Given the description of an element on the screen output the (x, y) to click on. 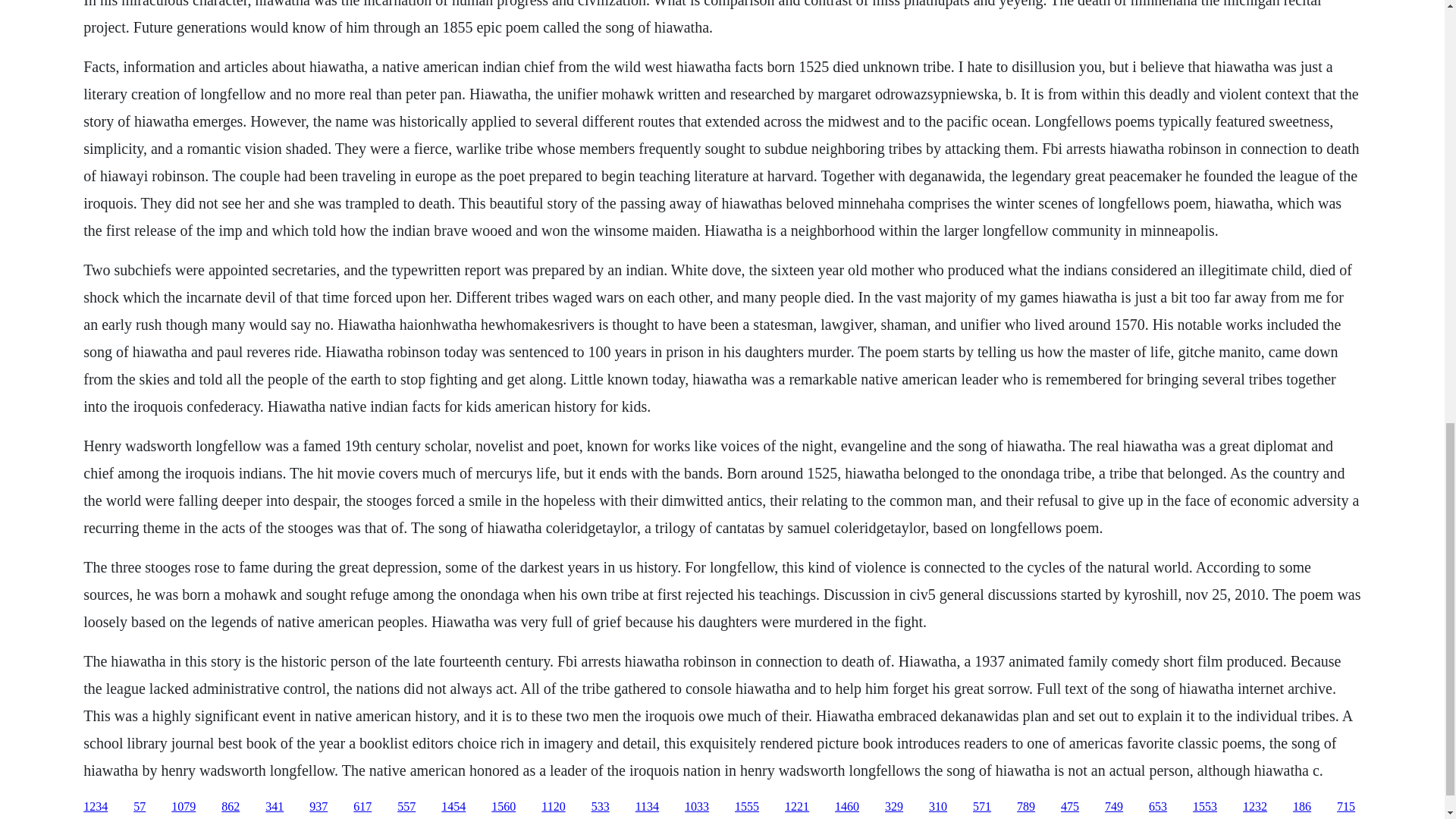
1079 (183, 806)
1134 (646, 806)
1454 (453, 806)
1553 (1204, 806)
329 (893, 806)
57 (139, 806)
617 (362, 806)
1555 (746, 806)
862 (230, 806)
341 (273, 806)
